Given the description of an element on the screen output the (x, y) to click on. 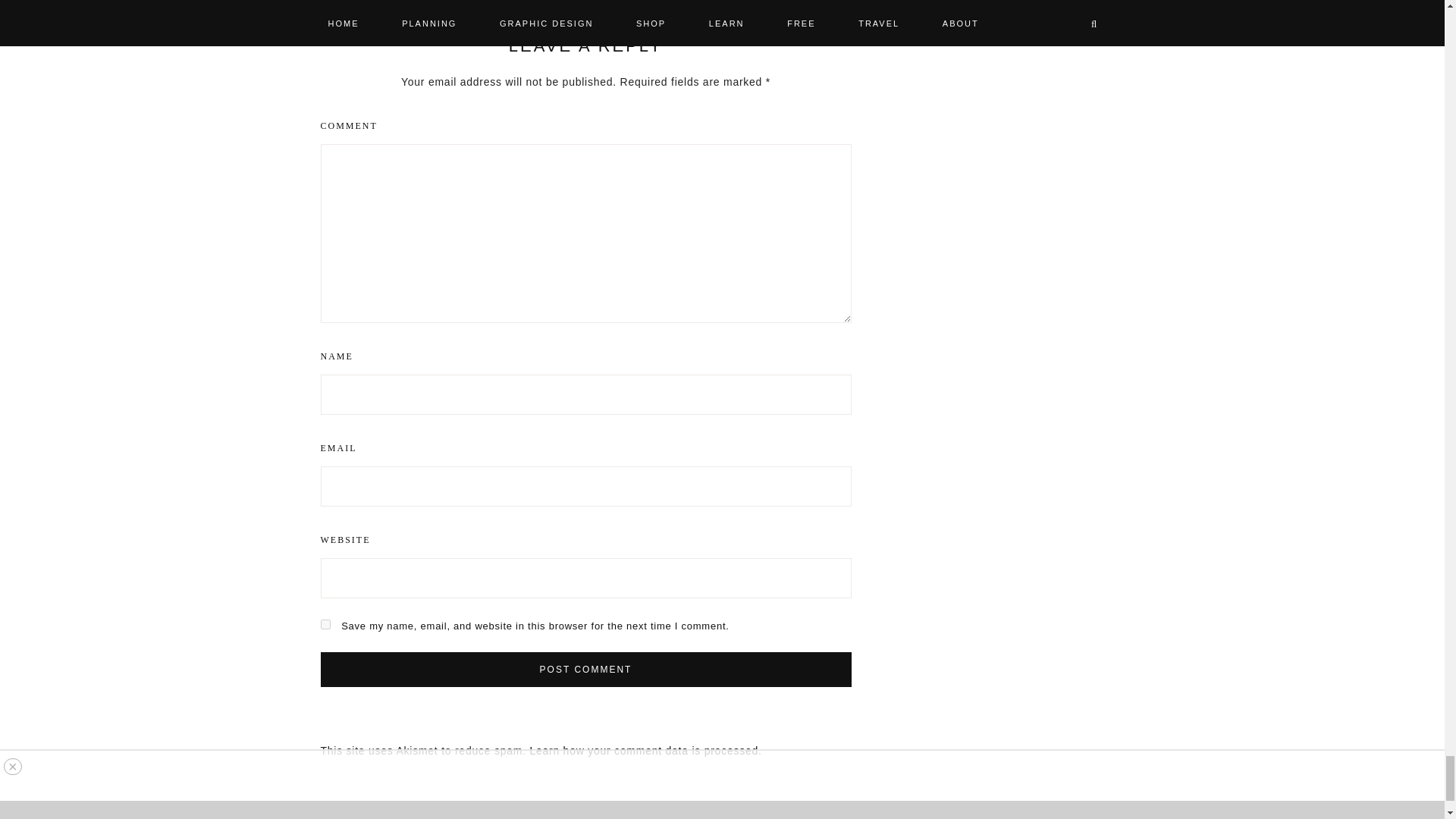
yes (325, 624)
Post Comment (585, 669)
